Given the description of an element on the screen output the (x, y) to click on. 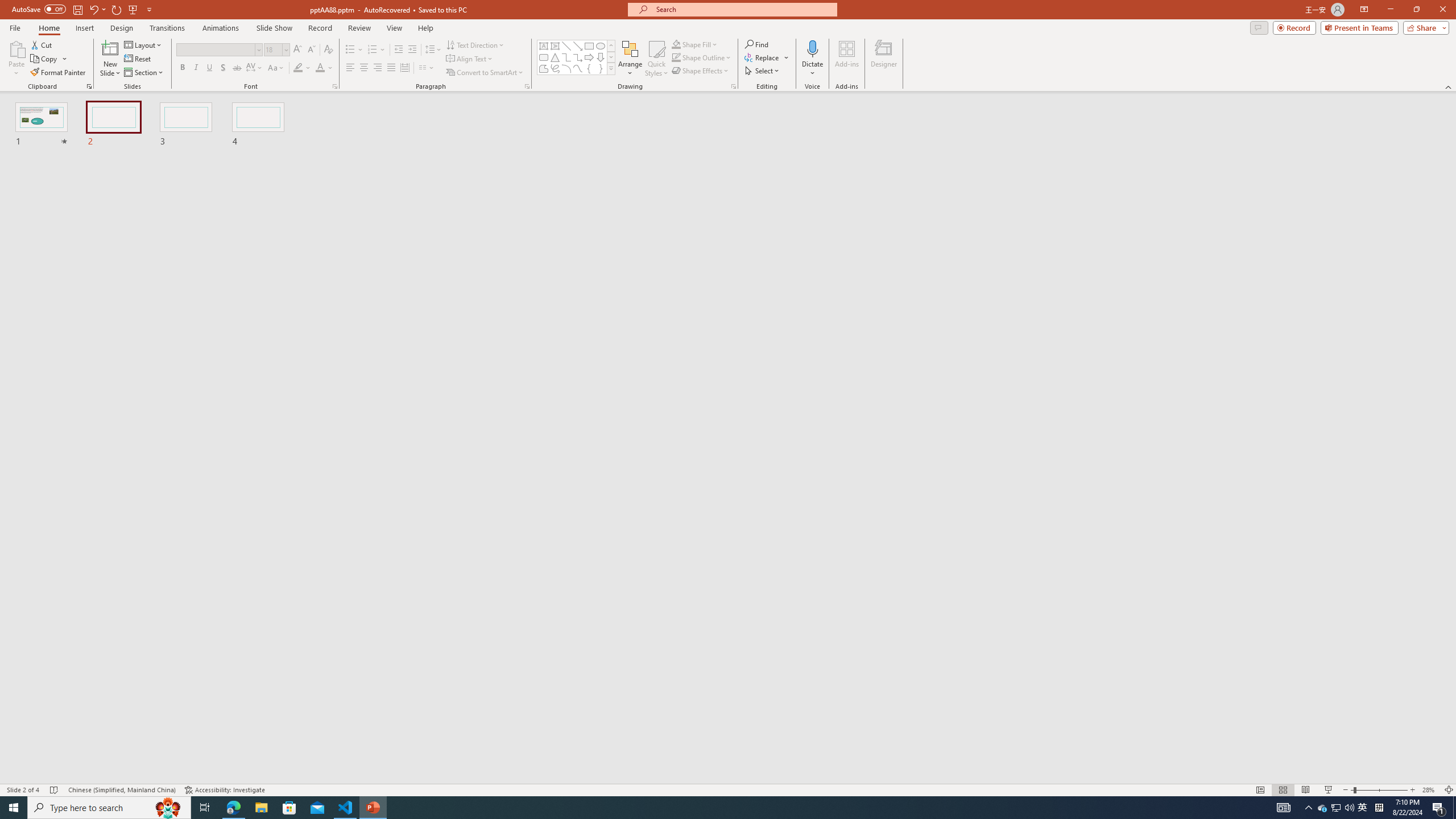
Isosceles Triangle (554, 57)
Increase Font Size (297, 49)
Columns (426, 67)
Align Left (349, 67)
Left Brace (589, 68)
Connector: Elbow Arrow (577, 57)
Text Direction (476, 44)
